Given the description of an element on the screen output the (x, y) to click on. 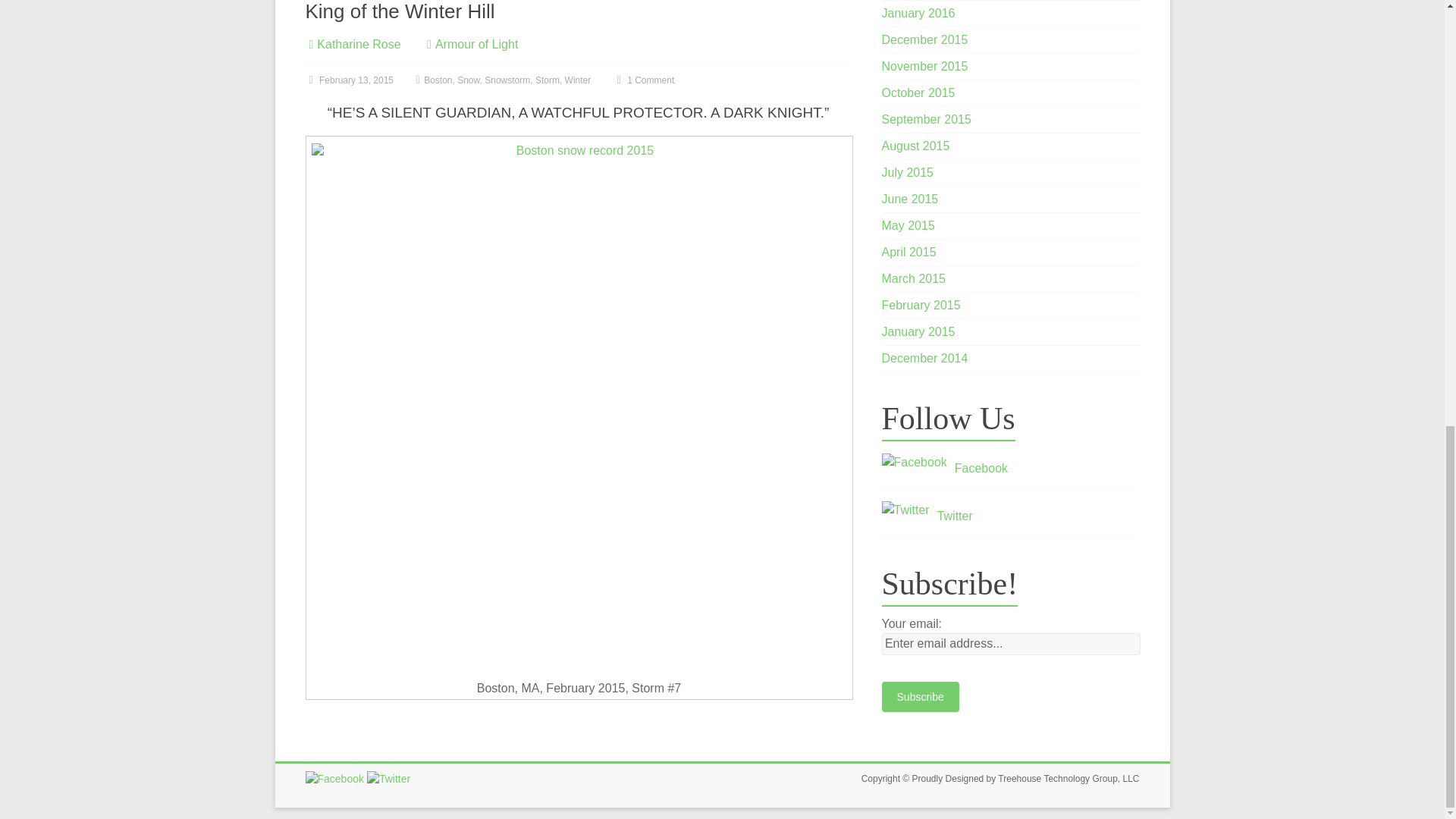
Facebook (333, 778)
Facebook (914, 462)
Snow (468, 80)
Subscribe (920, 696)
King of the Winter Hill (399, 11)
Twitter (906, 510)
1 Comment (643, 80)
Katharine Rose (358, 43)
February 13, 2015 (348, 80)
King of the Winter Hill (399, 11)
